Given the description of an element on the screen output the (x, y) to click on. 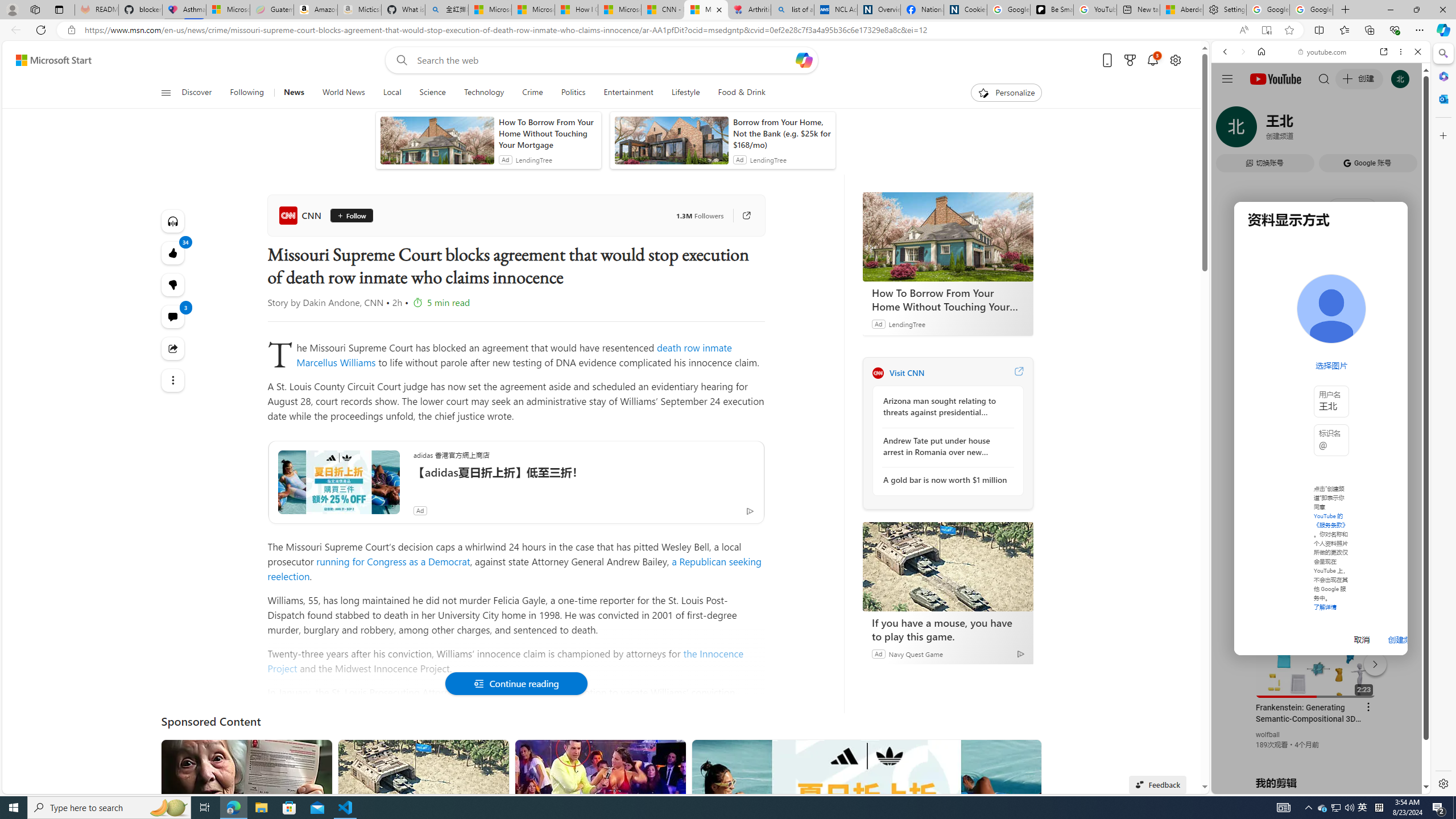
Trailer #2 [HD] (1320, 337)
